Given the description of an element on the screen output the (x, y) to click on. 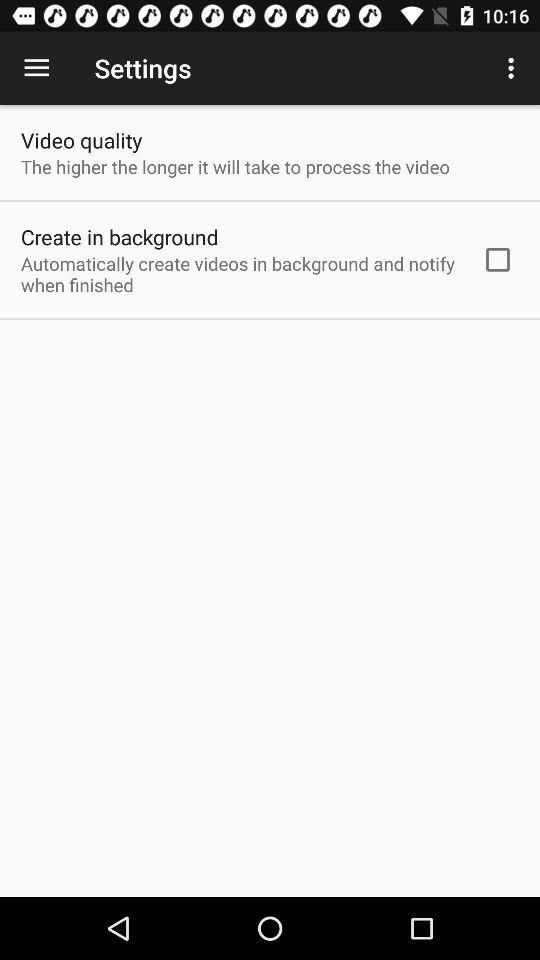
press the icon next to the settings icon (36, 68)
